Given the description of an element on the screen output the (x, y) to click on. 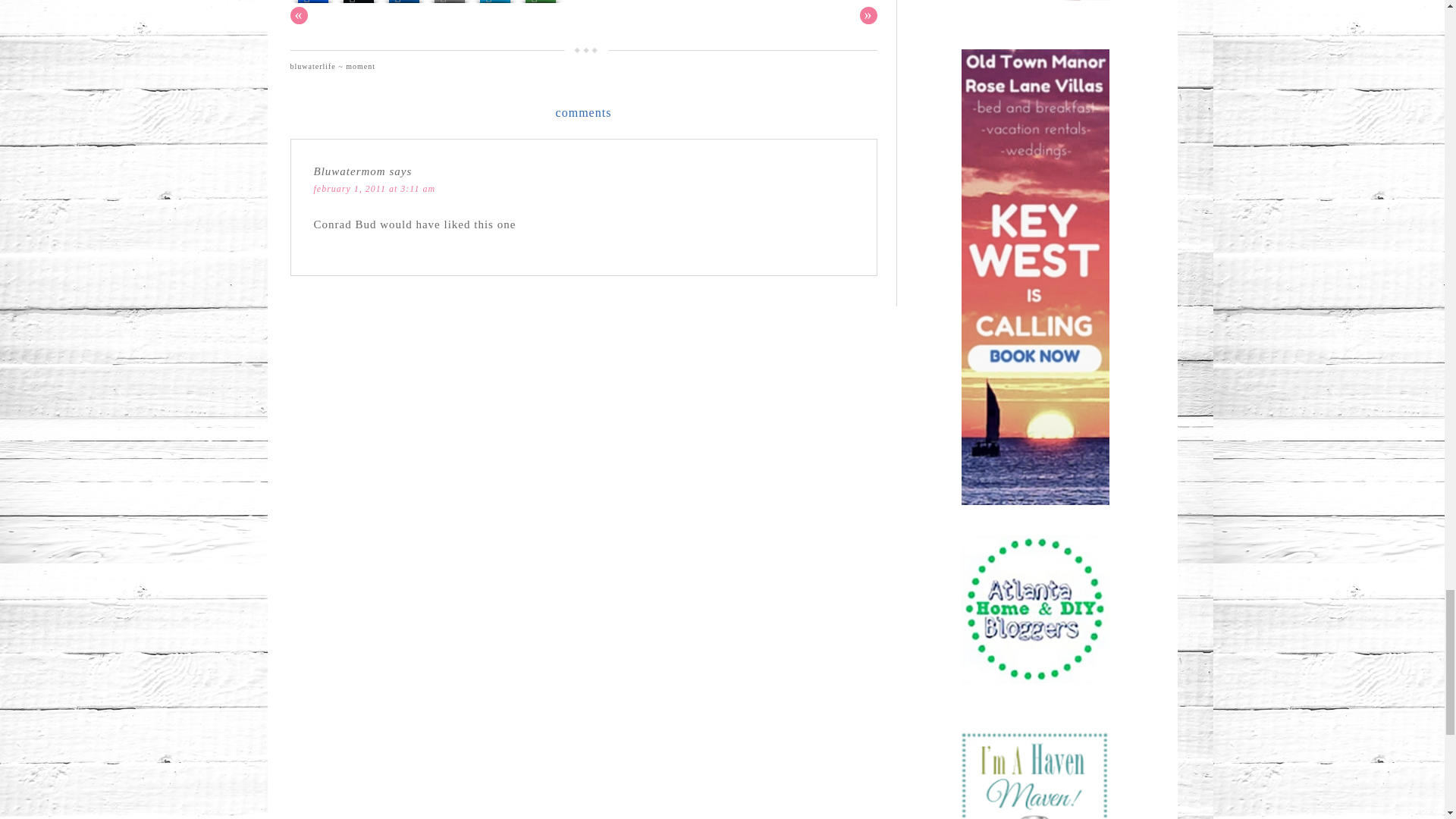
february 1, 2011 at 3:11 am (374, 188)
Email This (448, 3)
Next Post: key lime tarts (868, 15)
Previous Post: summer's end (298, 15)
PrintFriendly (493, 3)
Facebook (311, 3)
LinkedIn (403, 3)
More Options (539, 3)
